Given the description of an element on the screen output the (x, y) to click on. 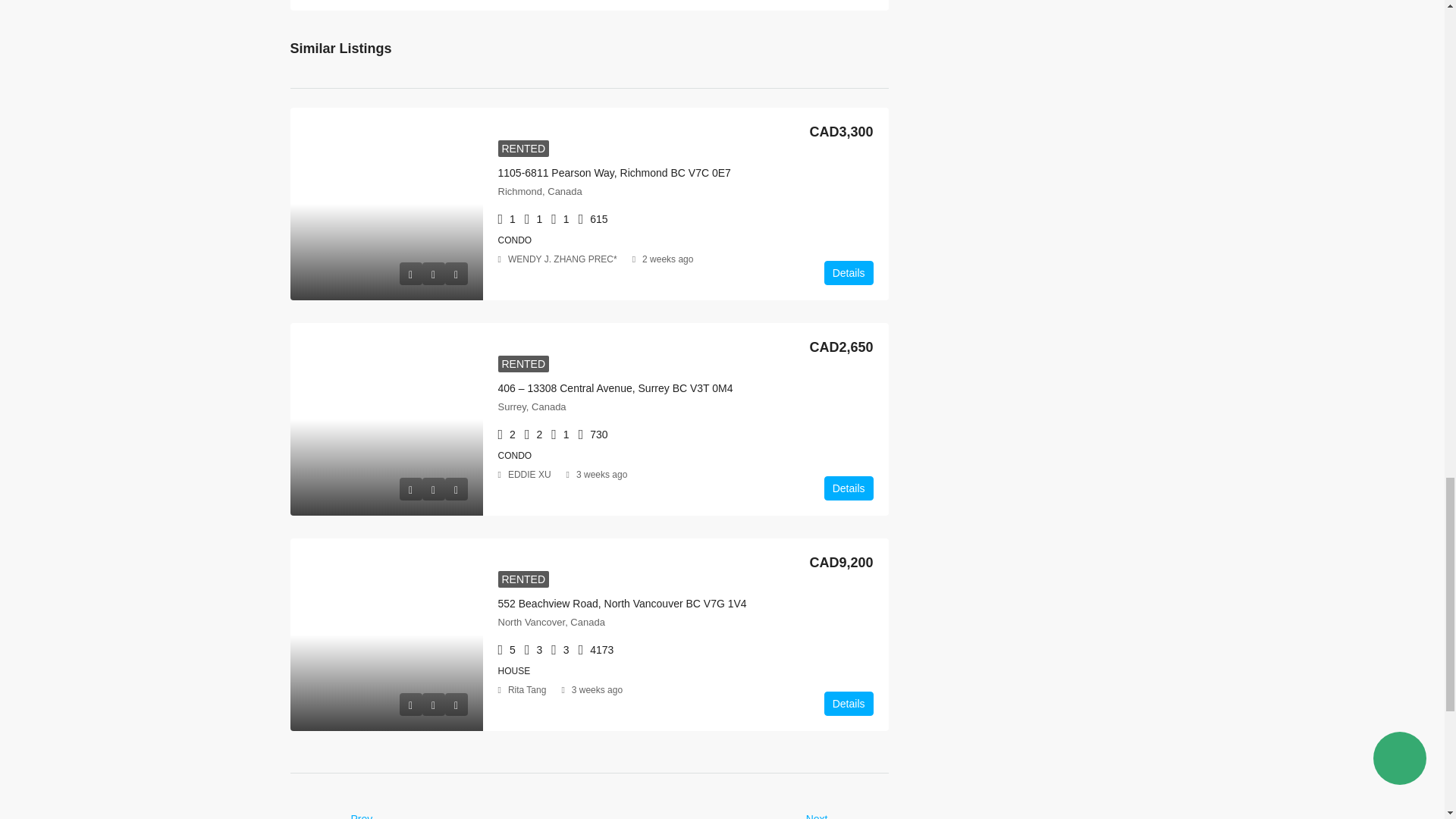
Preview (410, 273)
Favourite (433, 273)
Preview (410, 488)
Add to Compare (455, 273)
